Given the description of an element on the screen output the (x, y) to click on. 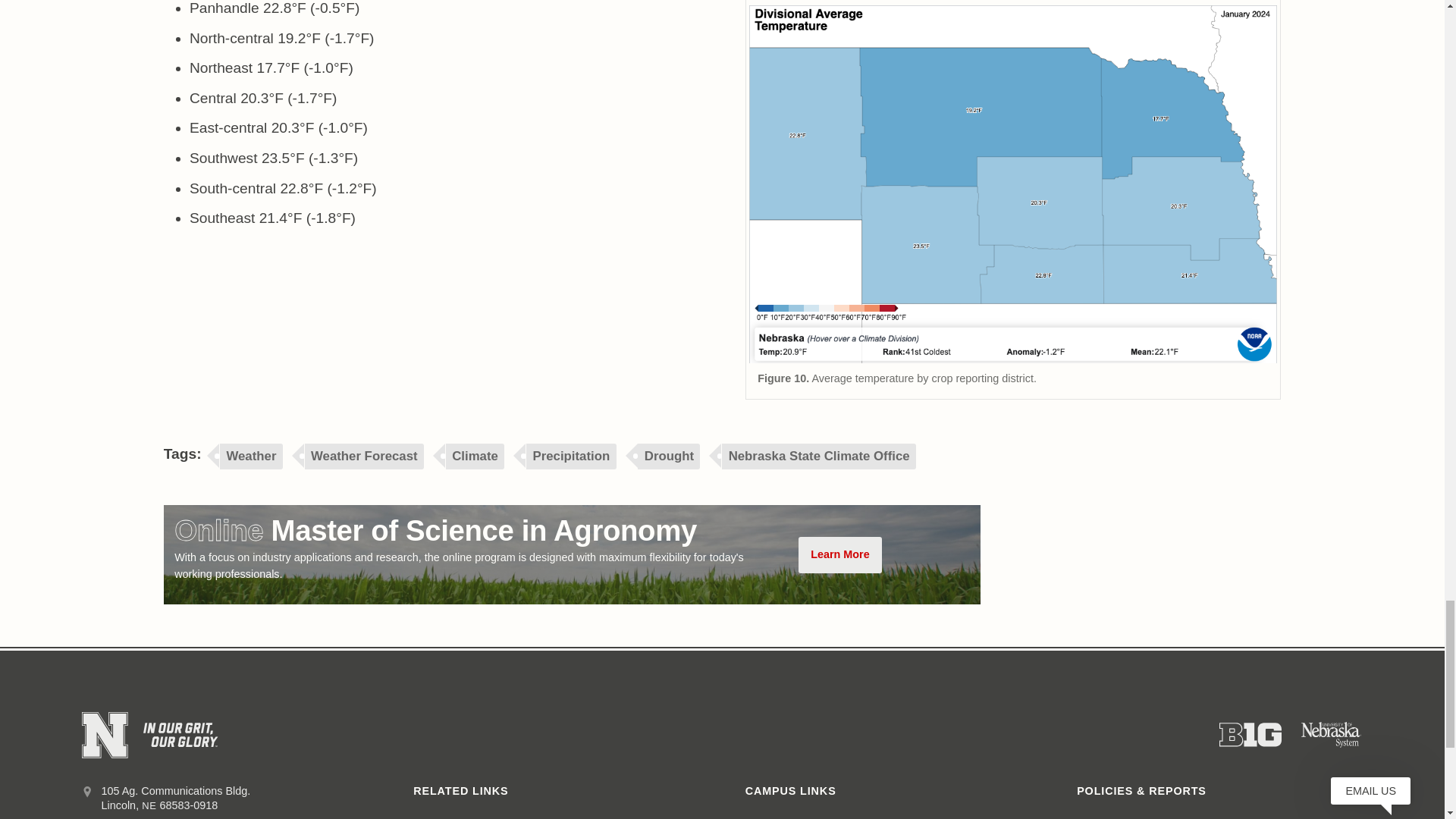
Pesticide Education (460, 816)
Nebraska (148, 805)
